Given the description of an element on the screen output the (x, y) to click on. 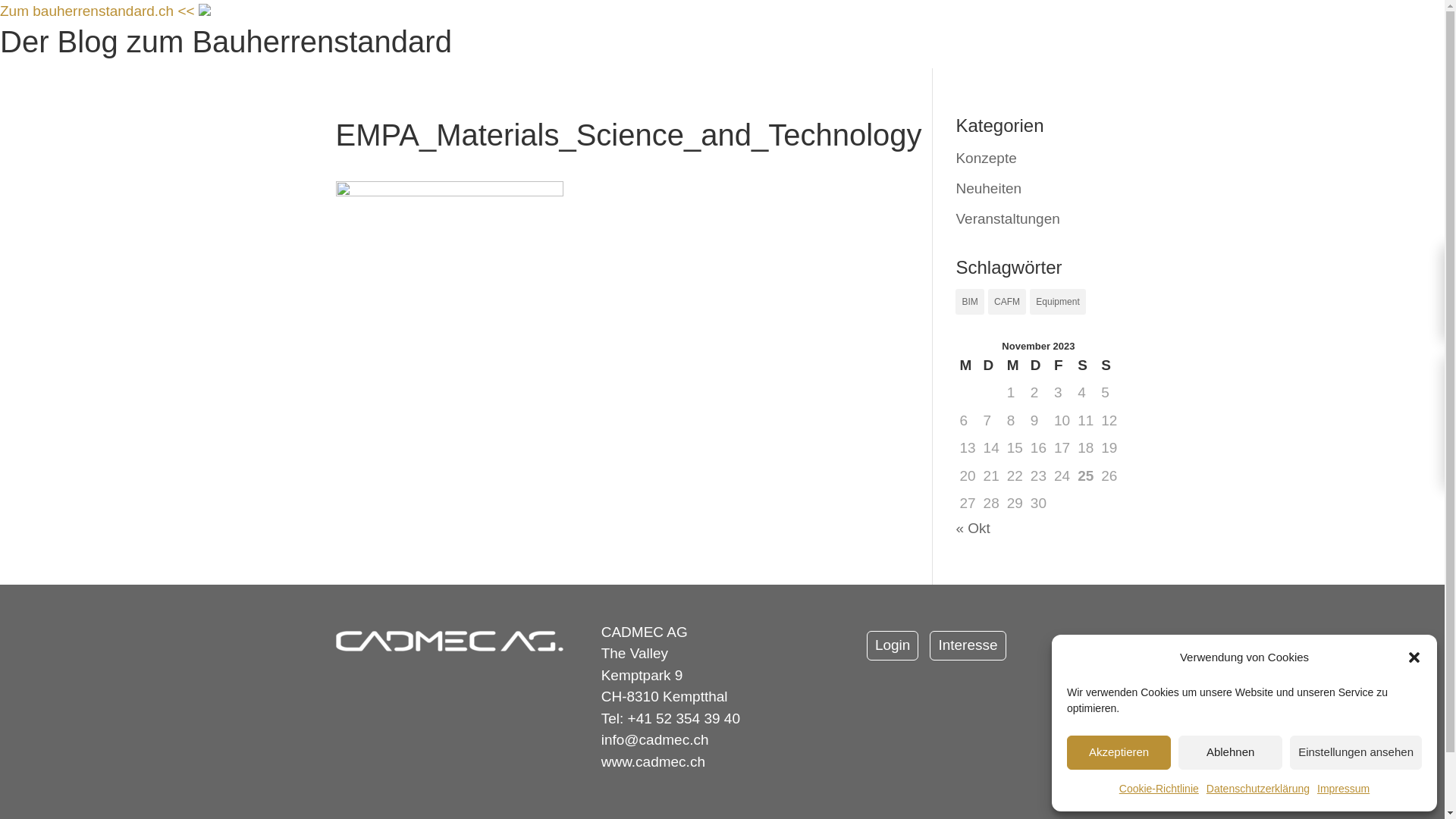
Impressum Element type: text (1343, 788)
Veranstaltungen Element type: text (1007, 218)
Konzepte Element type: text (985, 158)
Interesse Element type: text (967, 645)
Zum bauherrenstandard.ch << Element type: text (99, 10)
Neuheiten Element type: text (988, 188)
CAFM Element type: text (1007, 301)
BIM Element type: text (969, 301)
Cookie-Richtlinie Element type: text (1158, 788)
www.cadmec.ch Element type: text (653, 761)
Einstellungen ansehen Element type: text (1355, 752)
Login Element type: text (892, 645)
info@cadmec.ch Element type: text (655, 739)
Ablehnen Element type: text (1230, 752)
Equipment Element type: text (1057, 301)
Akzeptieren Element type: text (1118, 752)
